Given the description of an element on the screen output the (x, y) to click on. 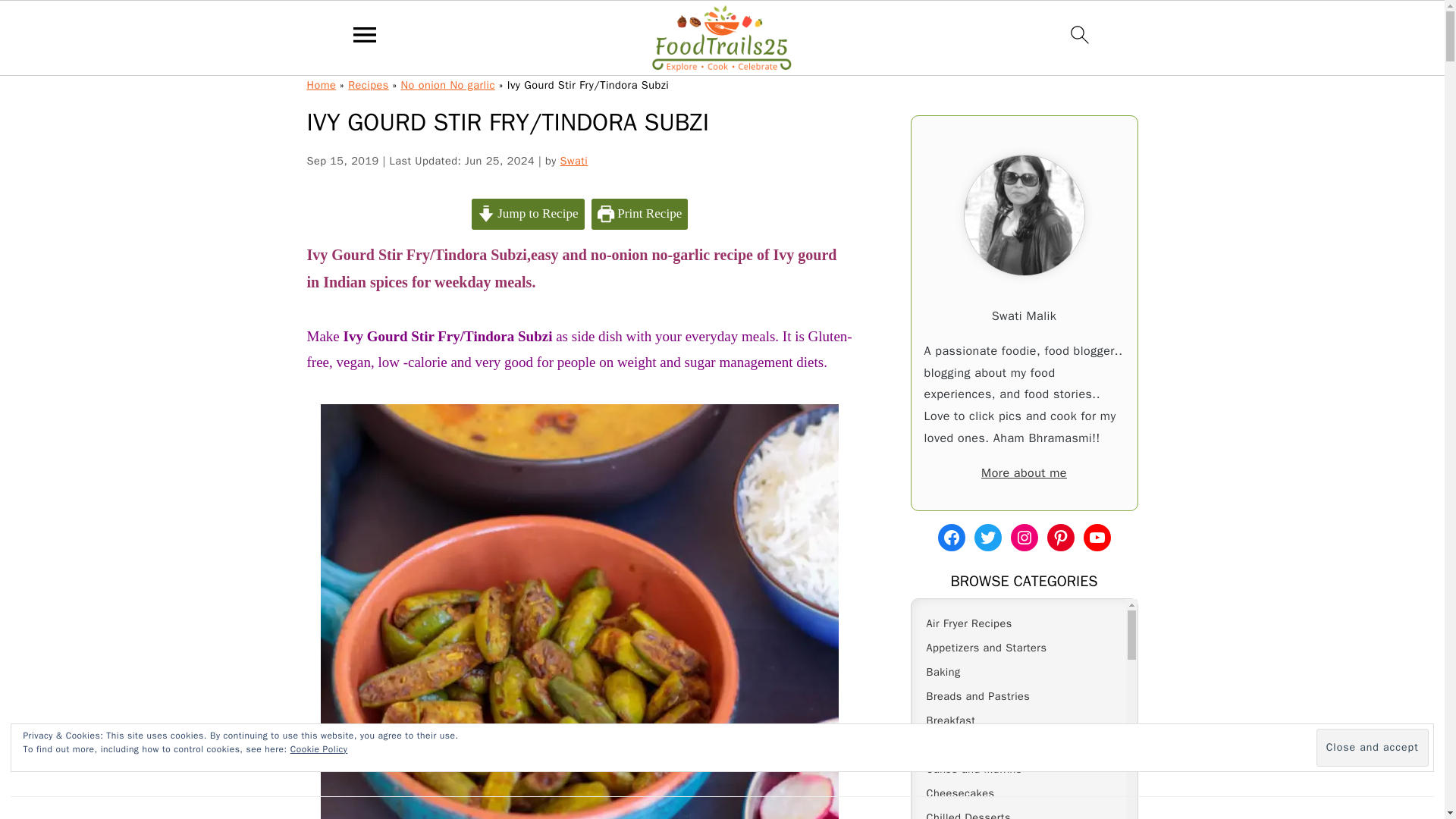
Swati (574, 160)
Close and accept (1372, 747)
Home (320, 84)
menu icon (365, 34)
search icon (1080, 34)
No onion No garlic (448, 84)
Recipes (367, 84)
Jump to Recipe (528, 214)
